Given the description of an element on the screen output the (x, y) to click on. 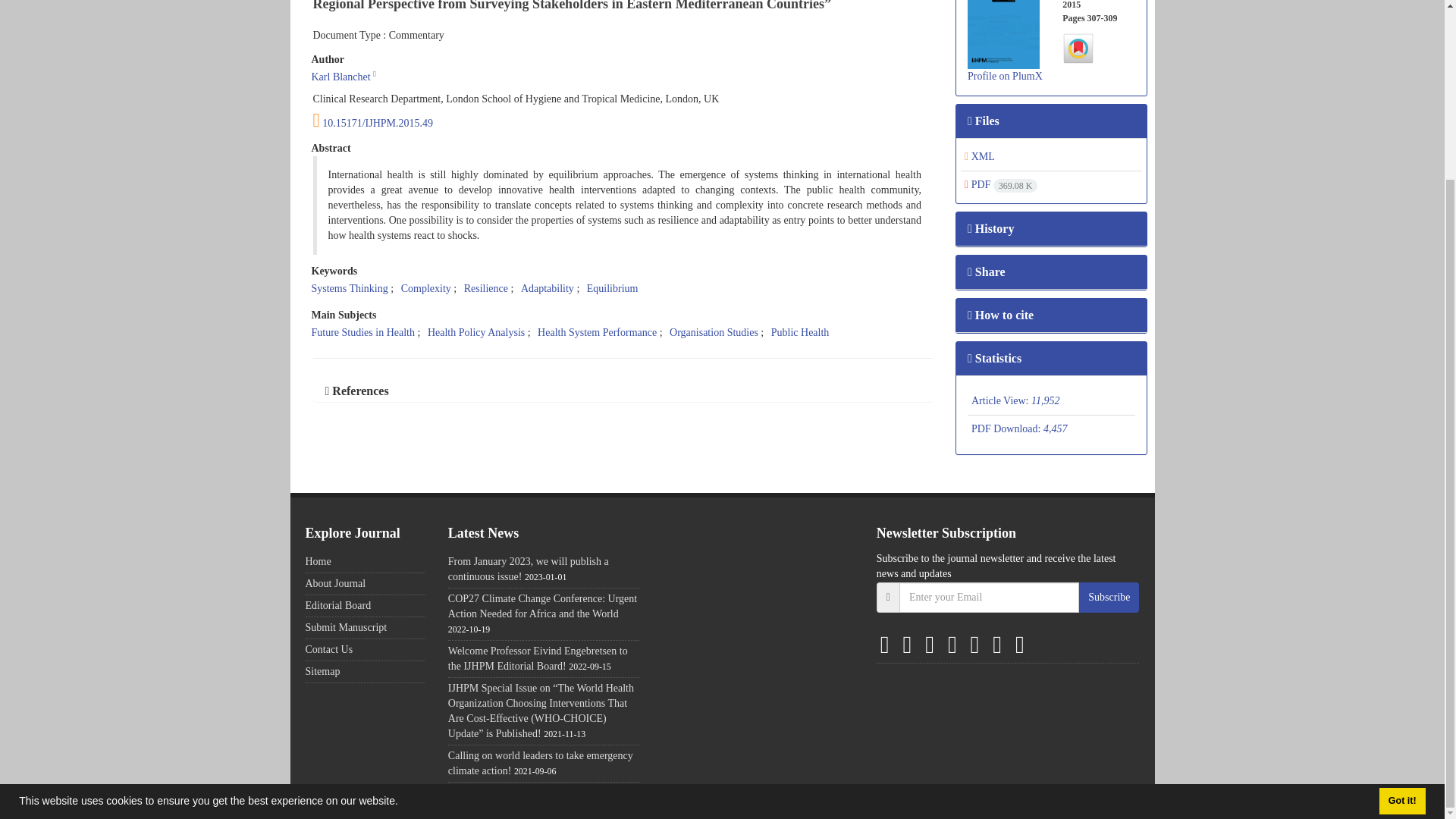
DOI (623, 119)
Adaptability (547, 288)
Karl Blanchet (340, 76)
Got it! (1401, 581)
Systems Thinking (349, 288)
Complexity (426, 288)
Resilience (486, 288)
